Given the description of an element on the screen output the (x, y) to click on. 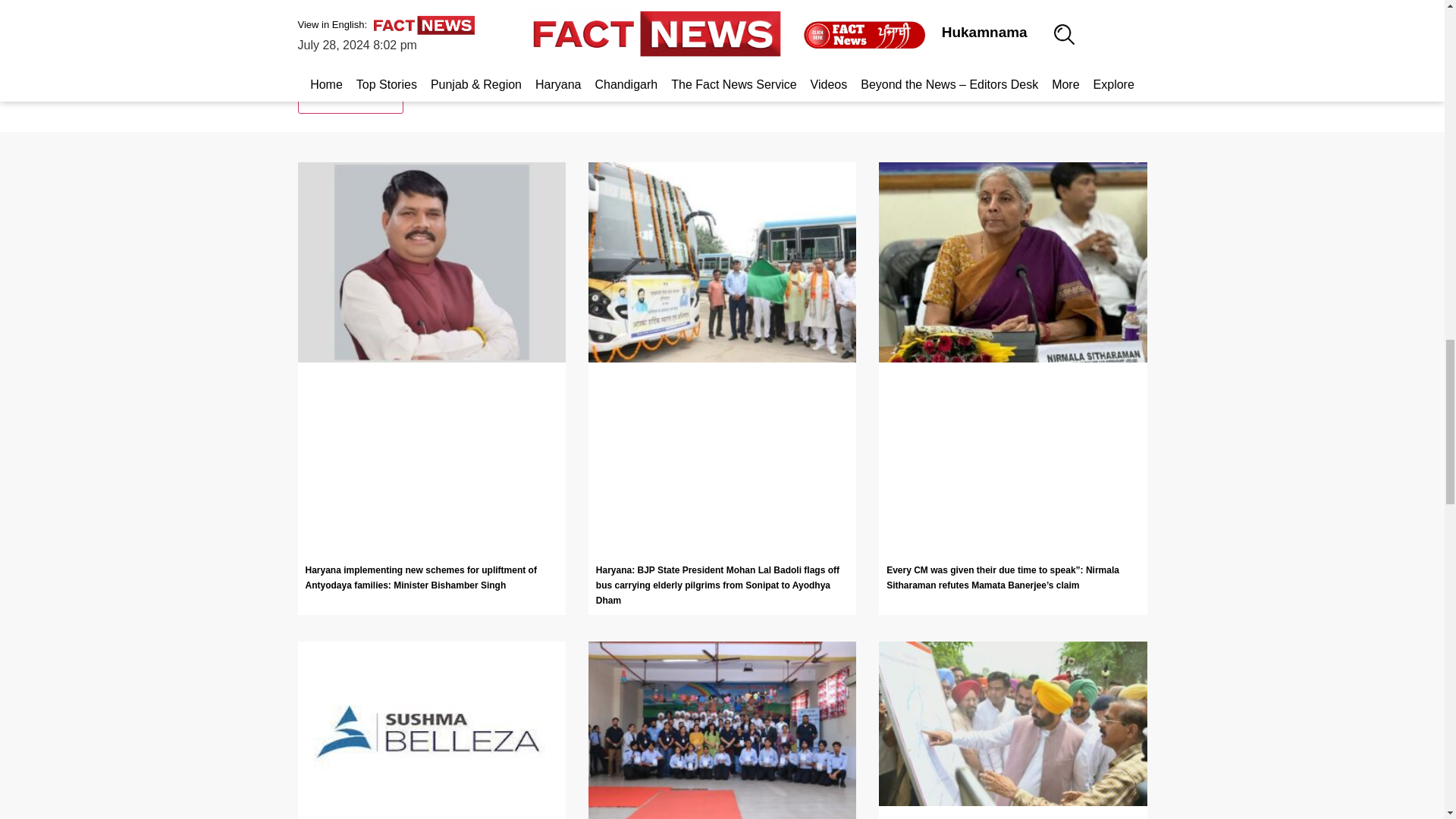
Post Comment (350, 97)
yes (302, 61)
